Given the description of an element on the screen output the (x, y) to click on. 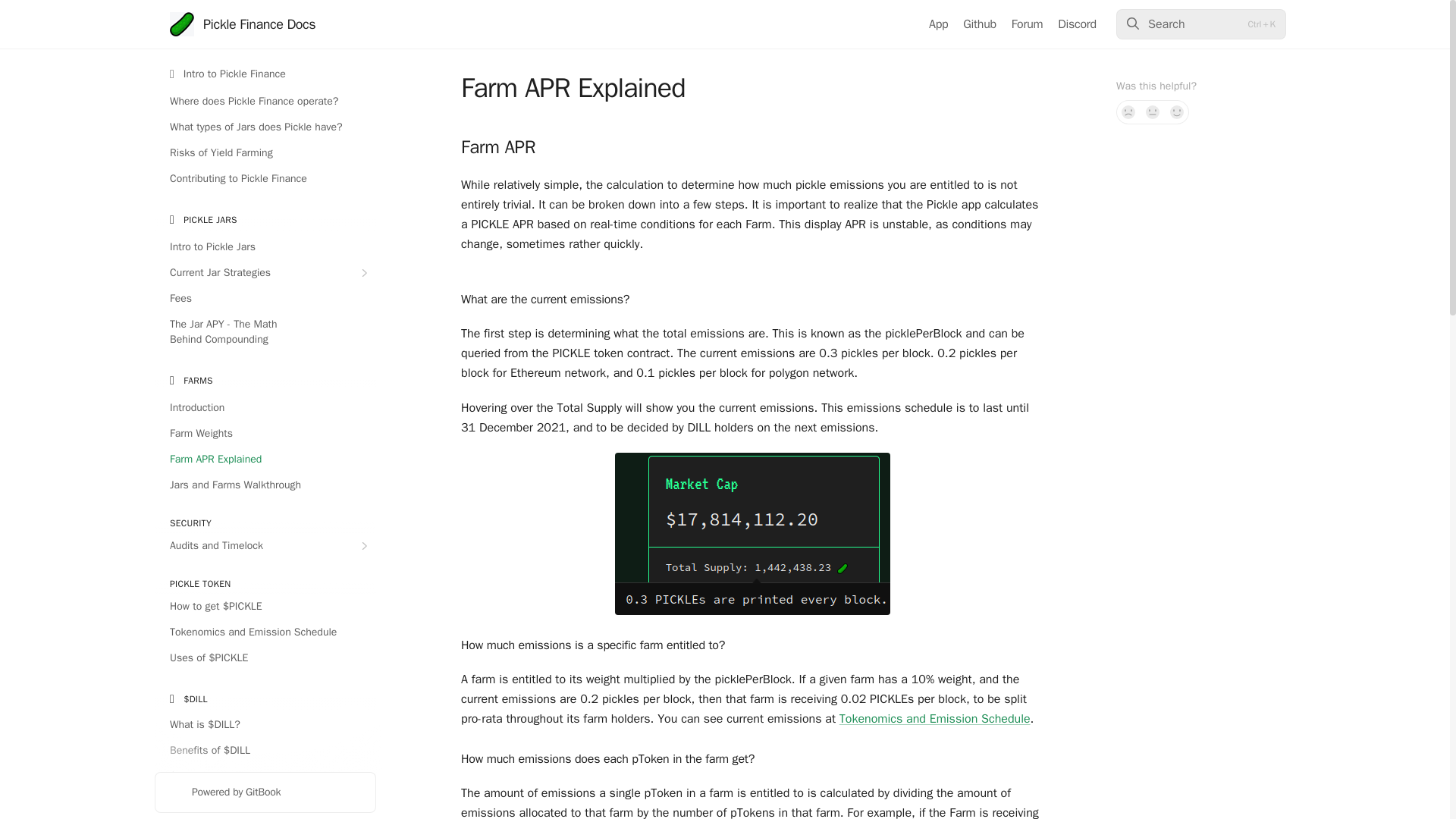
Fees (264, 298)
Jars and Farms Walkthrough (264, 485)
Farm APR Explained (264, 459)
Tokenomics and Emission Schedule (264, 631)
What types of Jars does Pickle have? (264, 127)
Risks of Yield Farming (264, 152)
Where does Pickle Finance operate? (264, 101)
Audits and Timelock (264, 545)
Farm Weights (264, 433)
Yes, it was! (1176, 111)
